Given the description of an element on the screen output the (x, y) to click on. 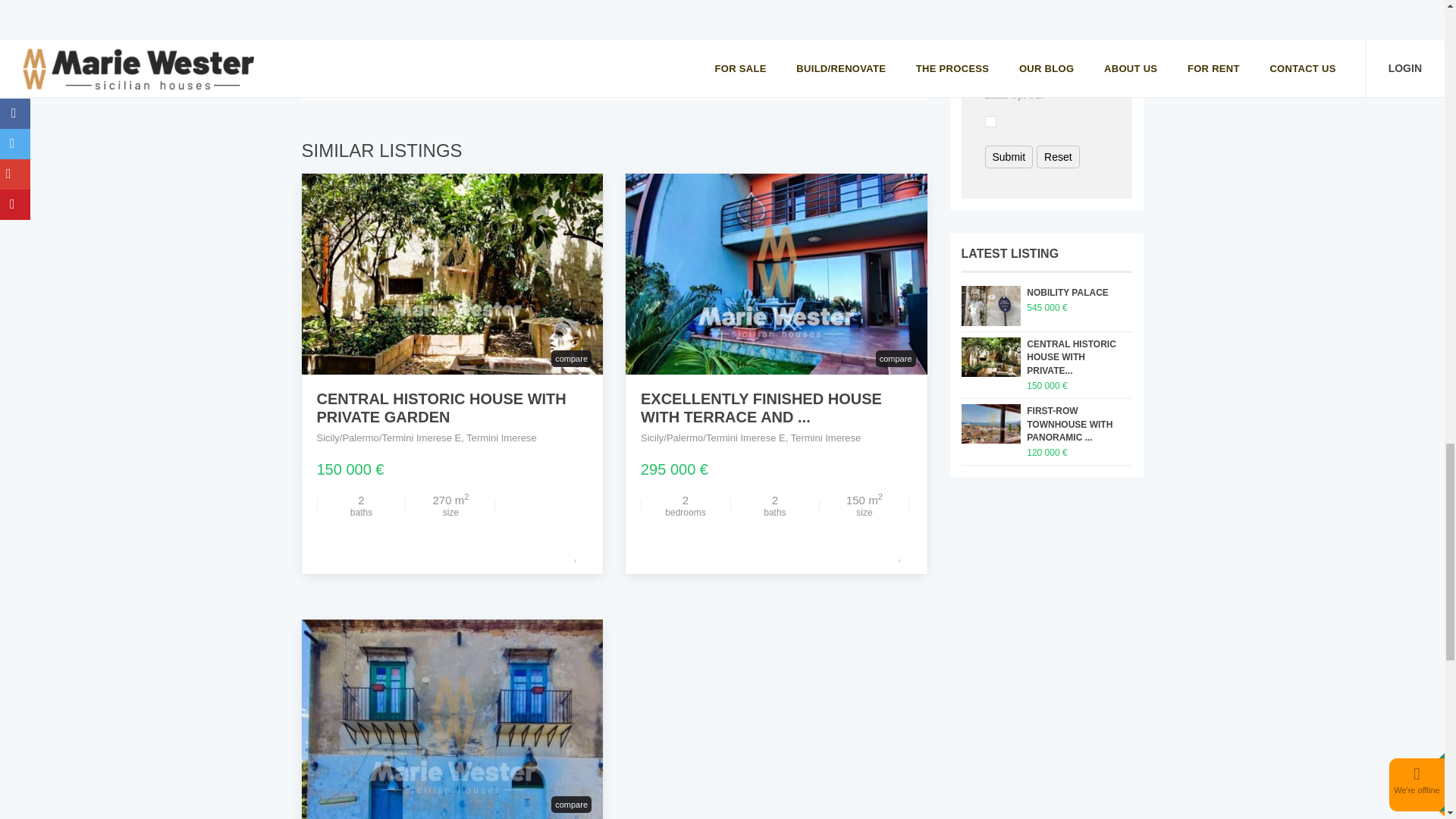
on (989, 121)
Reset (1058, 156)
Reset (1058, 156)
Submit (1008, 156)
Submit (1008, 156)
